Given the description of an element on the screen output the (x, y) to click on. 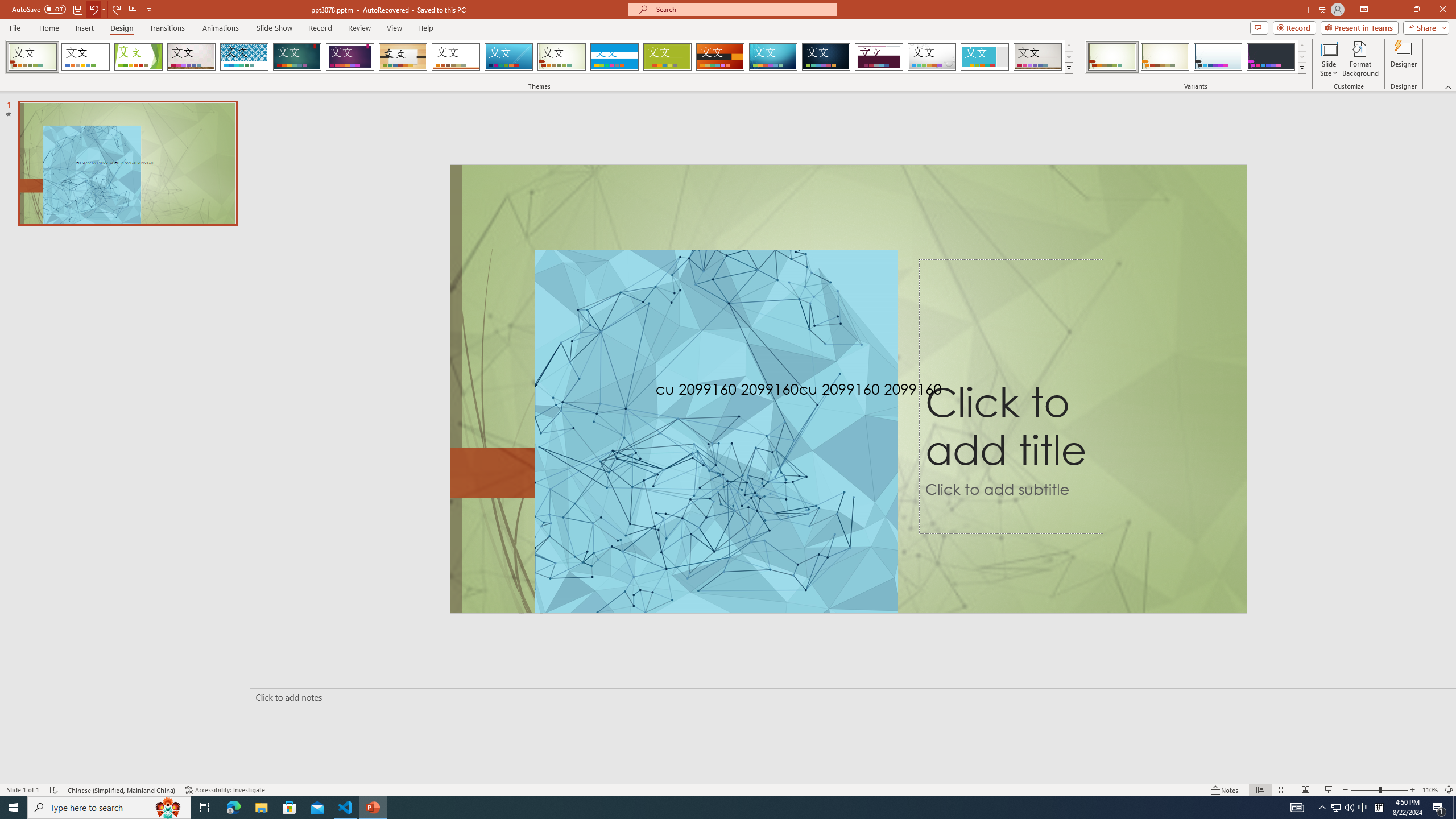
AutomationID: SlideThemesGallery (539, 56)
Damask (826, 56)
Wisp Variant 1 (1112, 56)
Slice (508, 56)
Circuit (772, 56)
Zoom 110% (1430, 790)
Banded (614, 56)
Wisp Variant 3 (1217, 56)
